Given the description of an element on the screen output the (x, y) to click on. 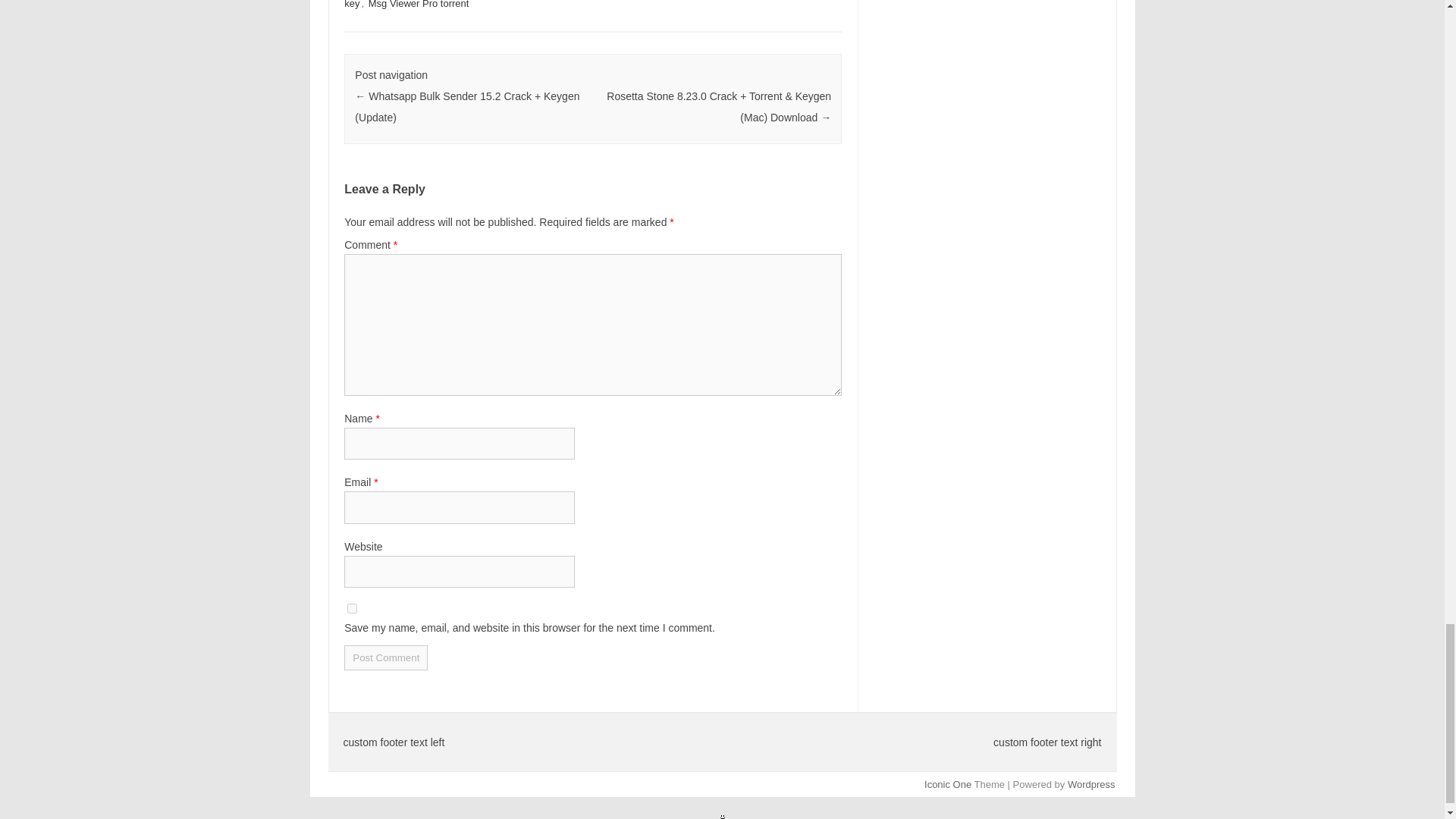
Msg Viewer Pro serial key (582, 5)
Post Comment (385, 657)
Msg Viewer Pro torrent (418, 5)
yes (351, 608)
Post Comment (385, 657)
